Given the description of an element on the screen output the (x, y) to click on. 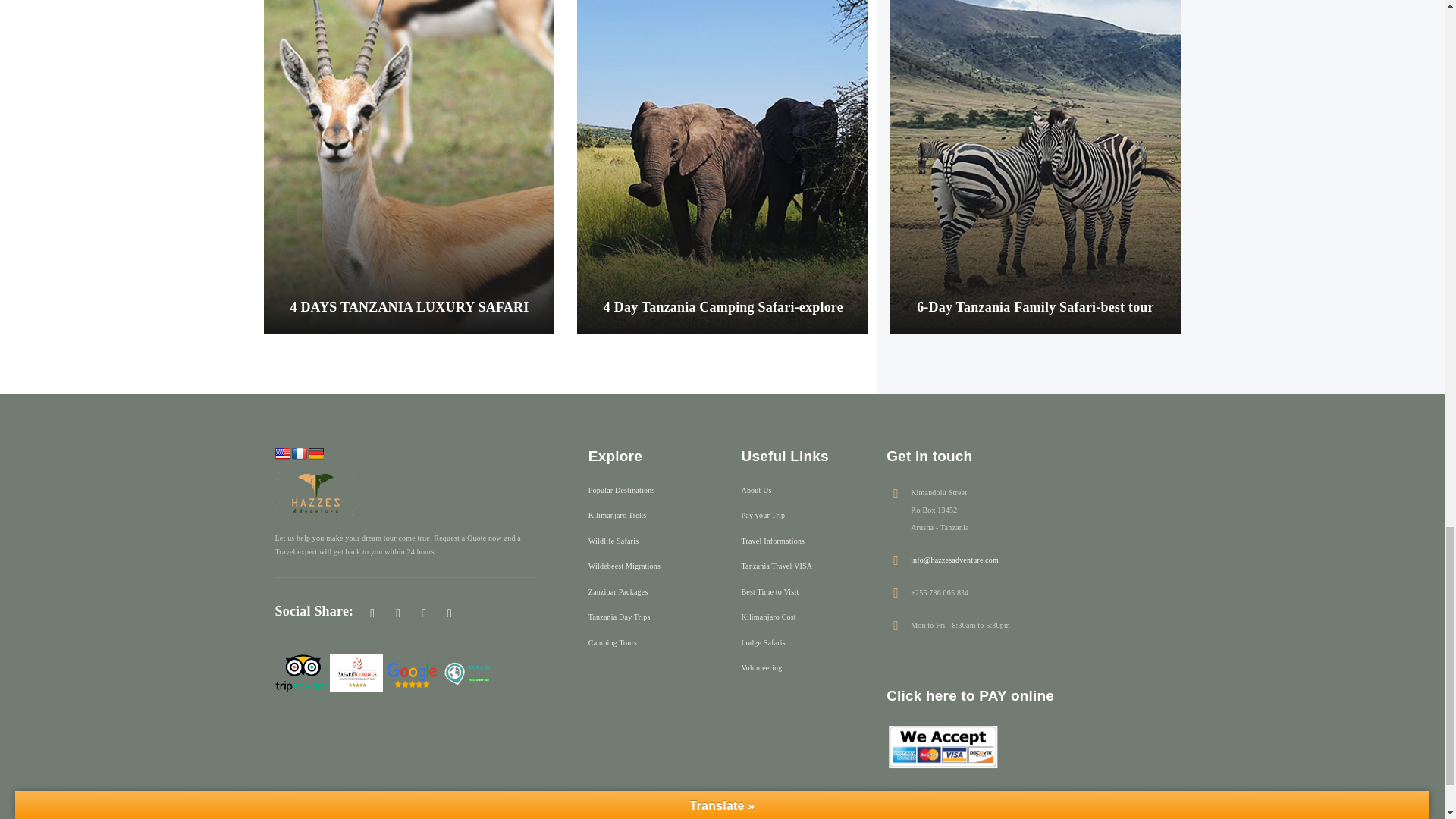
PAY ONLINE (943, 746)
English (282, 453)
German (315, 453)
French (298, 453)
